Given the description of an element on the screen output the (x, y) to click on. 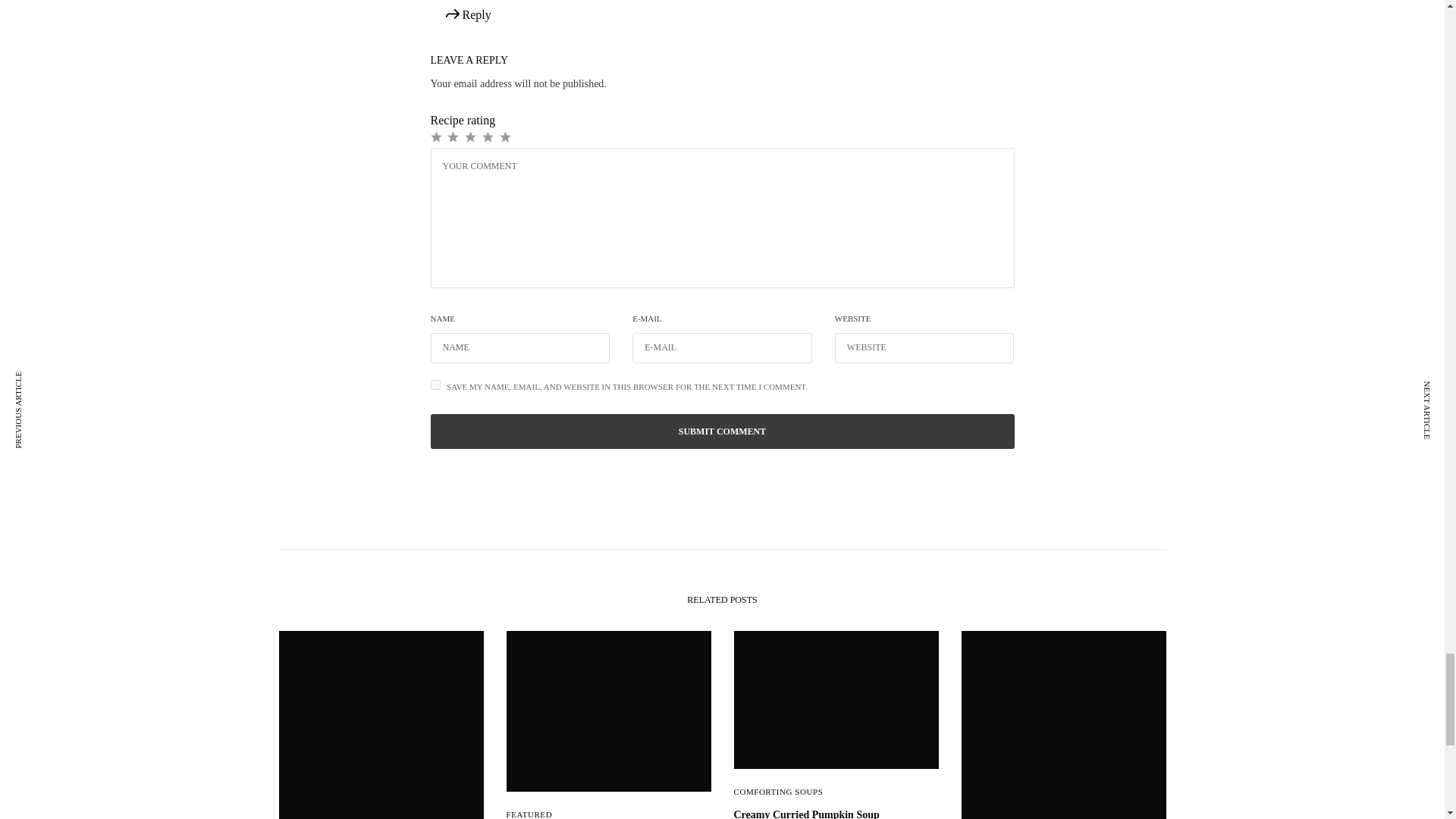
yes (435, 384)
Submit Comment (722, 431)
Creamy Curried Pumpkin Soup (836, 813)
